Given the description of an element on the screen output the (x, y) to click on. 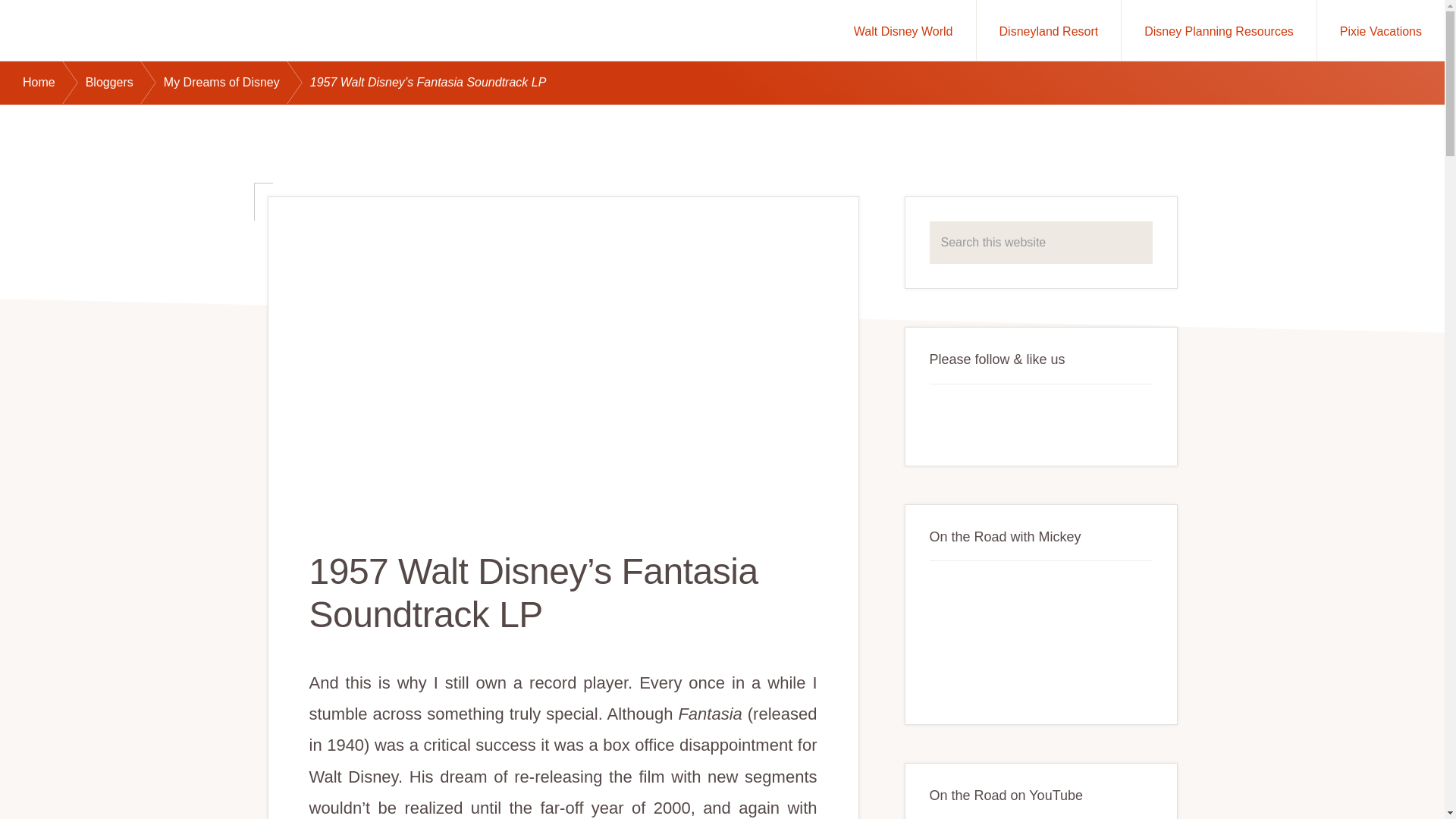
Close and accept (1372, 788)
Twitter (1015, 417)
YouTube (980, 417)
Walt Disney World (903, 30)
Disneyland Resort (1048, 30)
Pinterest (1048, 417)
Facebook (947, 417)
